Given the description of an element on the screen output the (x, y) to click on. 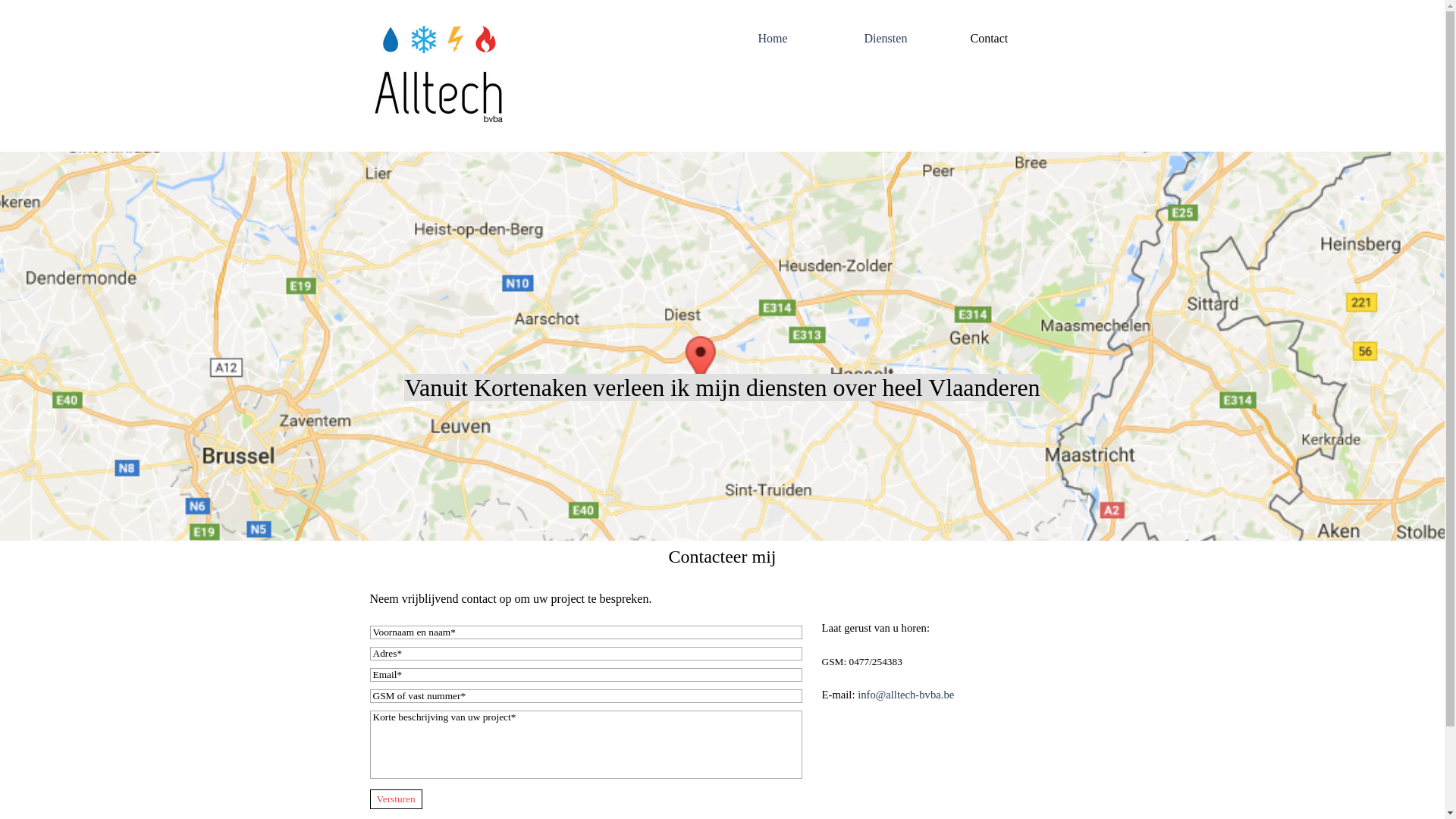
Home Element type: text (806, 38)
info@alltech-bvba.be Element type: text (905, 694)
Contact Element type: text (1018, 38)
